Given the description of an element on the screen output the (x, y) to click on. 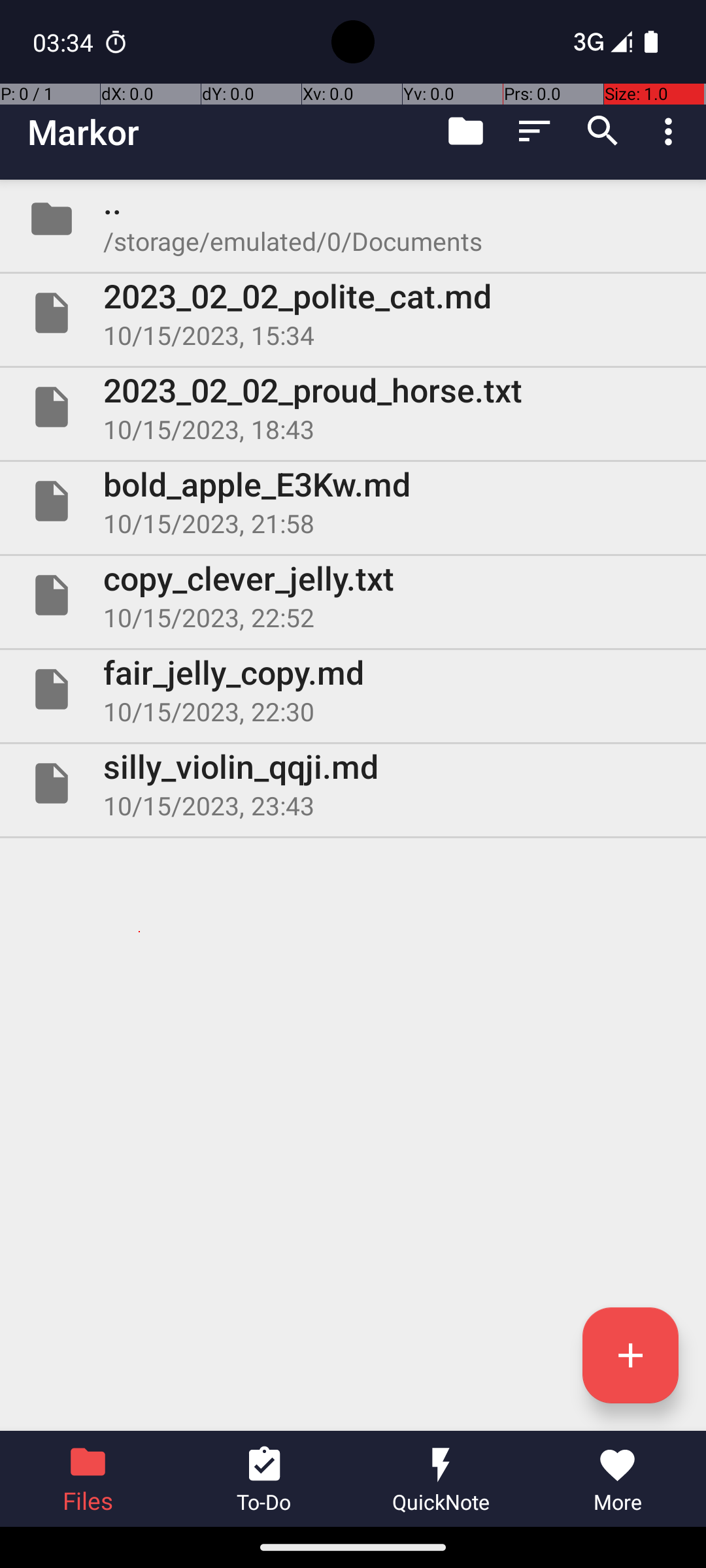
File 2023_02_02_polite_cat.md  Element type: android.widget.LinearLayout (353, 312)
File 2023_02_02_proud_horse.txt  Element type: android.widget.LinearLayout (353, 406)
File bold_apple_E3Kw.md  Element type: android.widget.LinearLayout (353, 500)
File copy_clever_jelly.txt  Element type: android.widget.LinearLayout (353, 594)
File fair_jelly_copy.md  Element type: android.widget.LinearLayout (353, 689)
File silly_violin_qqji.md  Element type: android.widget.LinearLayout (353, 783)
03:34 Element type: android.widget.TextView (64, 41)
